Given the description of an element on the screen output the (x, y) to click on. 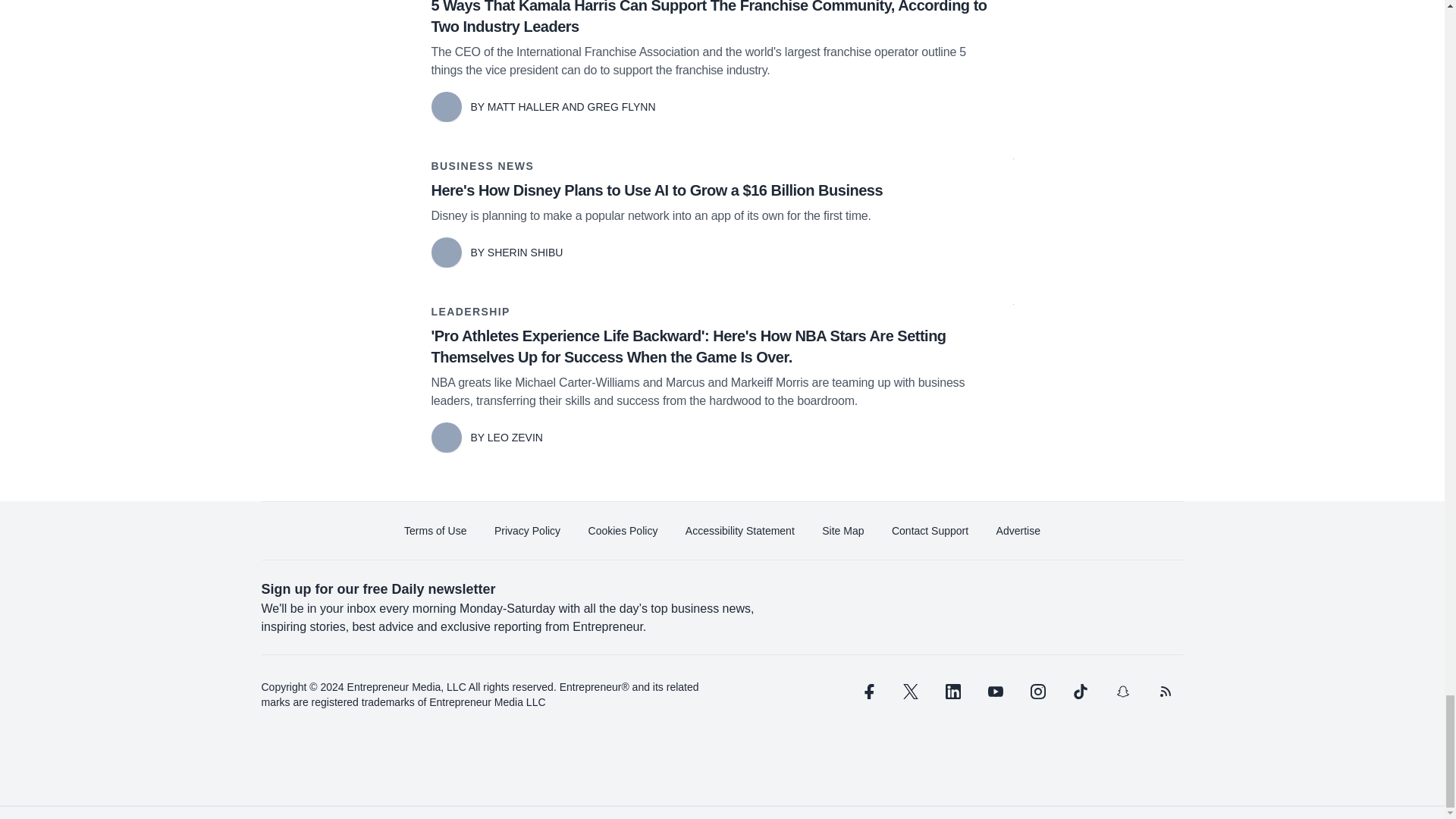
youtube (994, 691)
instagram (1037, 691)
linkedin (952, 691)
tiktok (1079, 691)
facebook (866, 691)
twitter (909, 691)
snapchat (1121, 691)
